Given the description of an element on the screen output the (x, y) to click on. 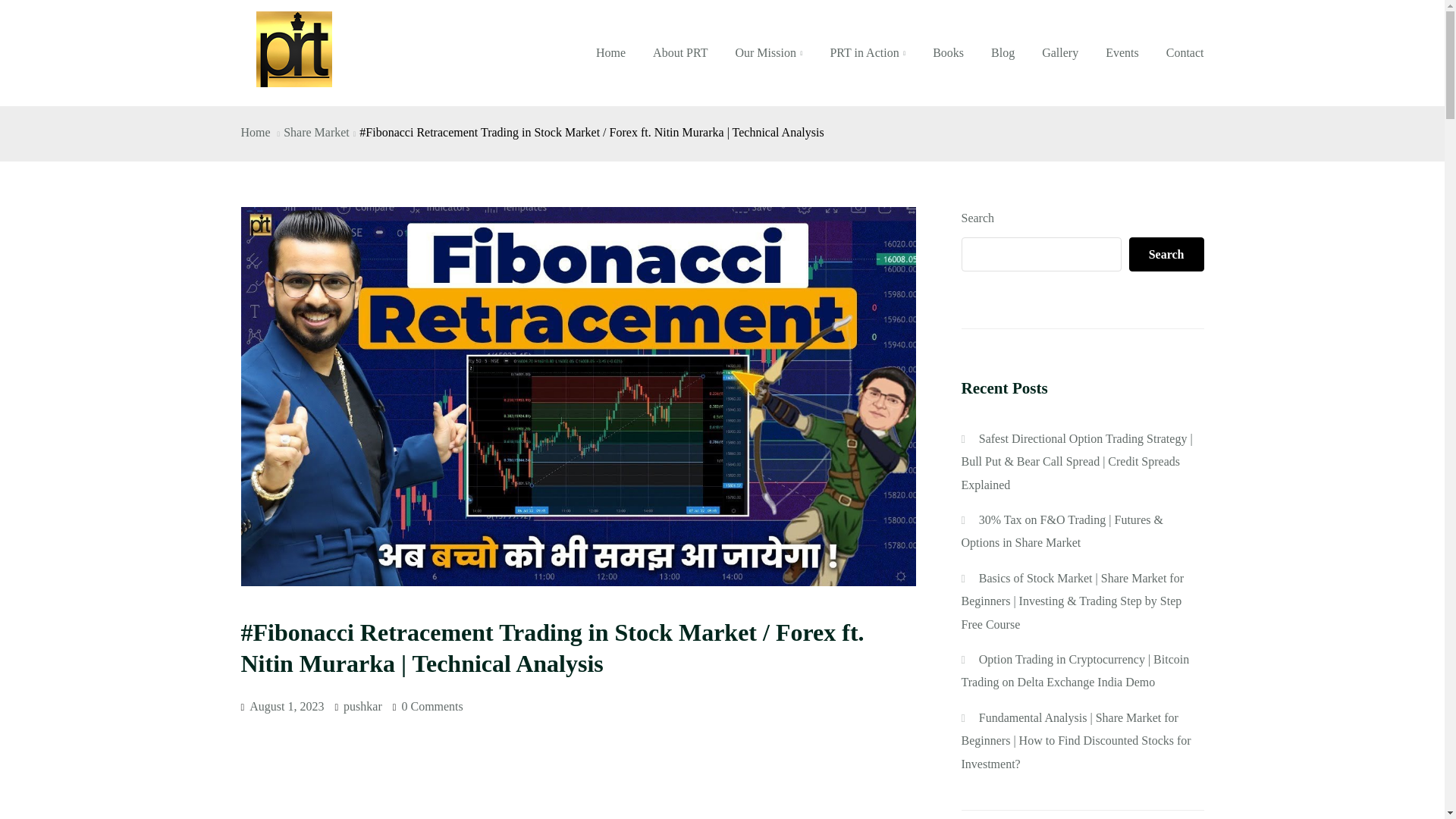
Our Mission (767, 52)
0 Comments (432, 706)
Home (255, 132)
Home (610, 52)
Events (1122, 52)
pushkar (362, 706)
Blog (1002, 52)
Home (255, 132)
Contact (1179, 52)
Search (1166, 254)
Share Market (316, 132)
About PRT (679, 52)
Books (947, 52)
Gallery (1059, 52)
PRT in Action (866, 52)
